Given the description of an element on the screen output the (x, y) to click on. 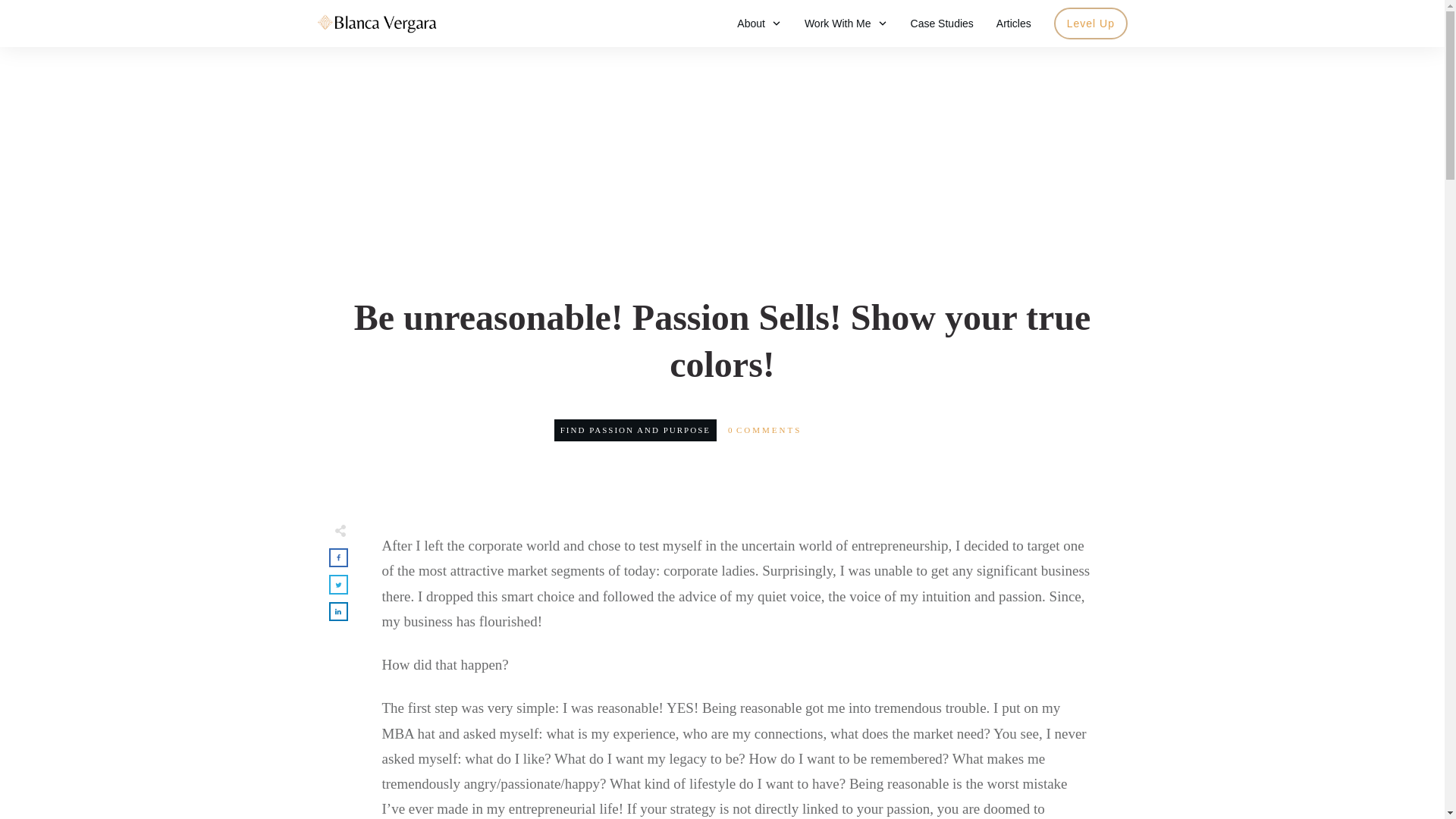
Case Studies (942, 23)
Find Passion and Purpose (635, 429)
Articles (1012, 23)
FIND PASSION AND PURPOSE (635, 429)
Level Up (1091, 23)
About (758, 23)
Work With Me (846, 23)
